Given the description of an element on the screen output the (x, y) to click on. 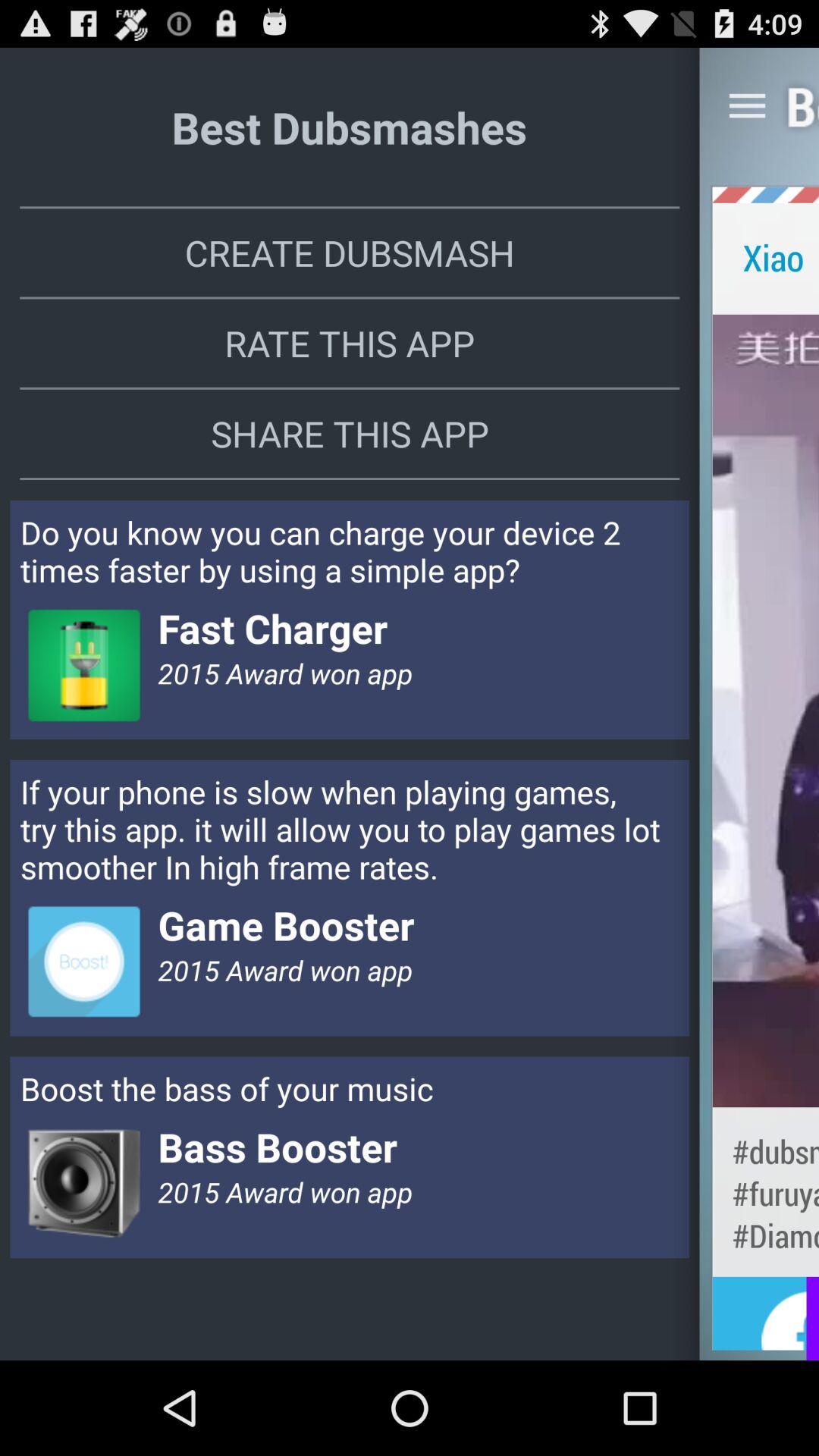
press the icon to the right of best dubsmashes icon (747, 105)
